Given the description of an element on the screen output the (x, y) to click on. 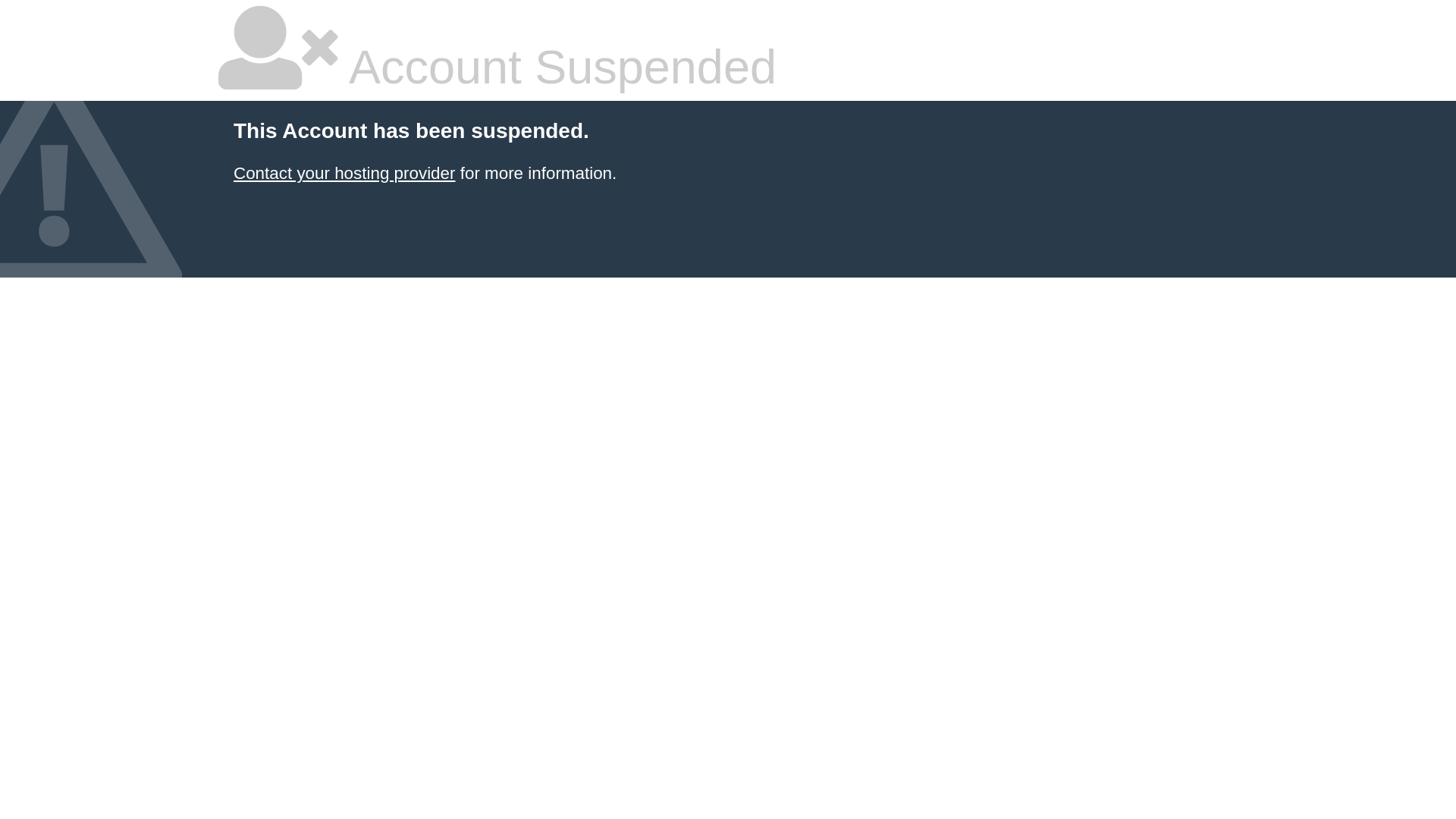
Contact your hosting provider Element type: text (344, 172)
